Given the description of an element on the screen output the (x, y) to click on. 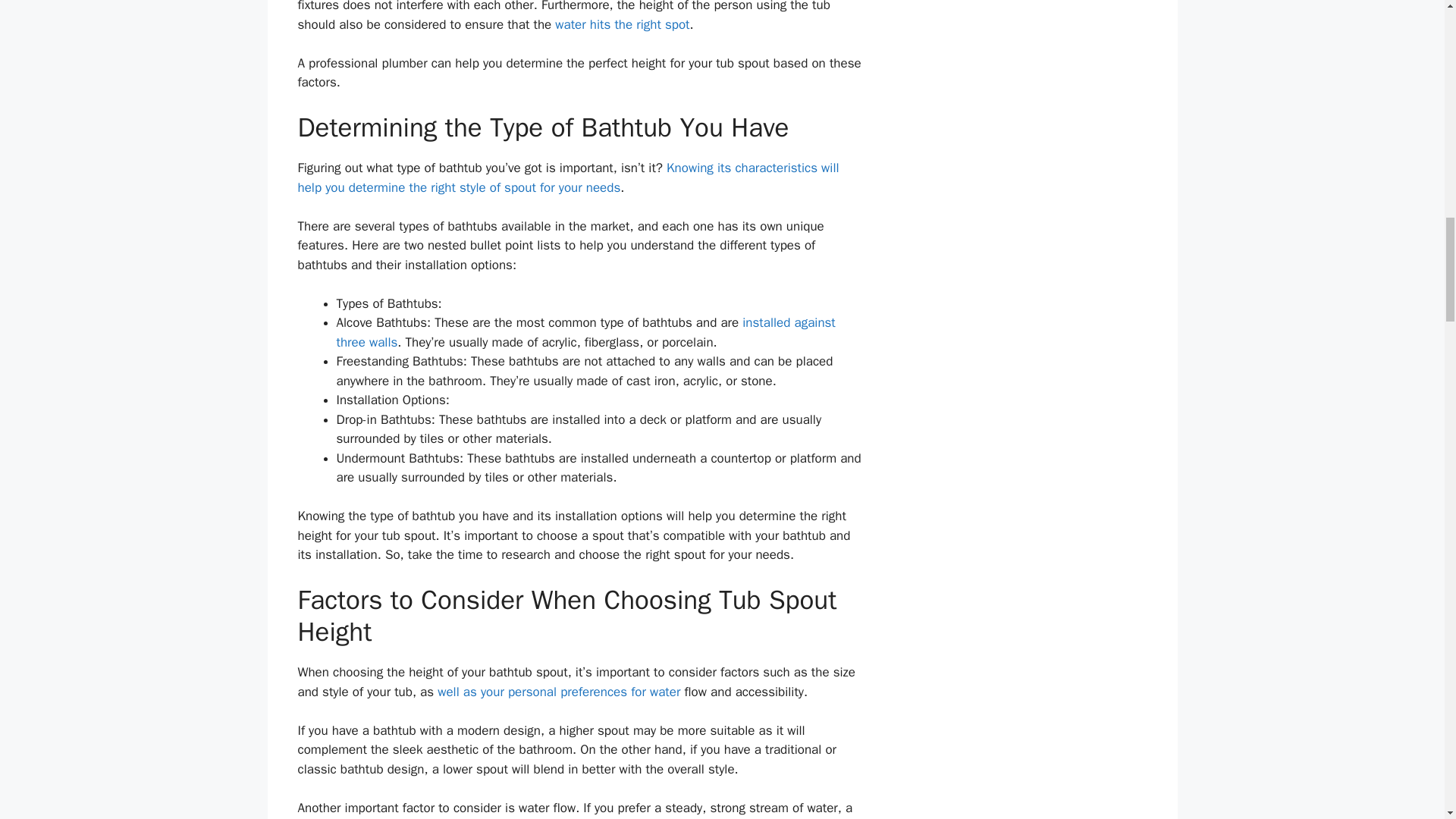
installed against three walls (585, 332)
well as your personal preferences for water (558, 691)
water hits the right spot (621, 24)
